Given the description of an element on the screen output the (x, y) to click on. 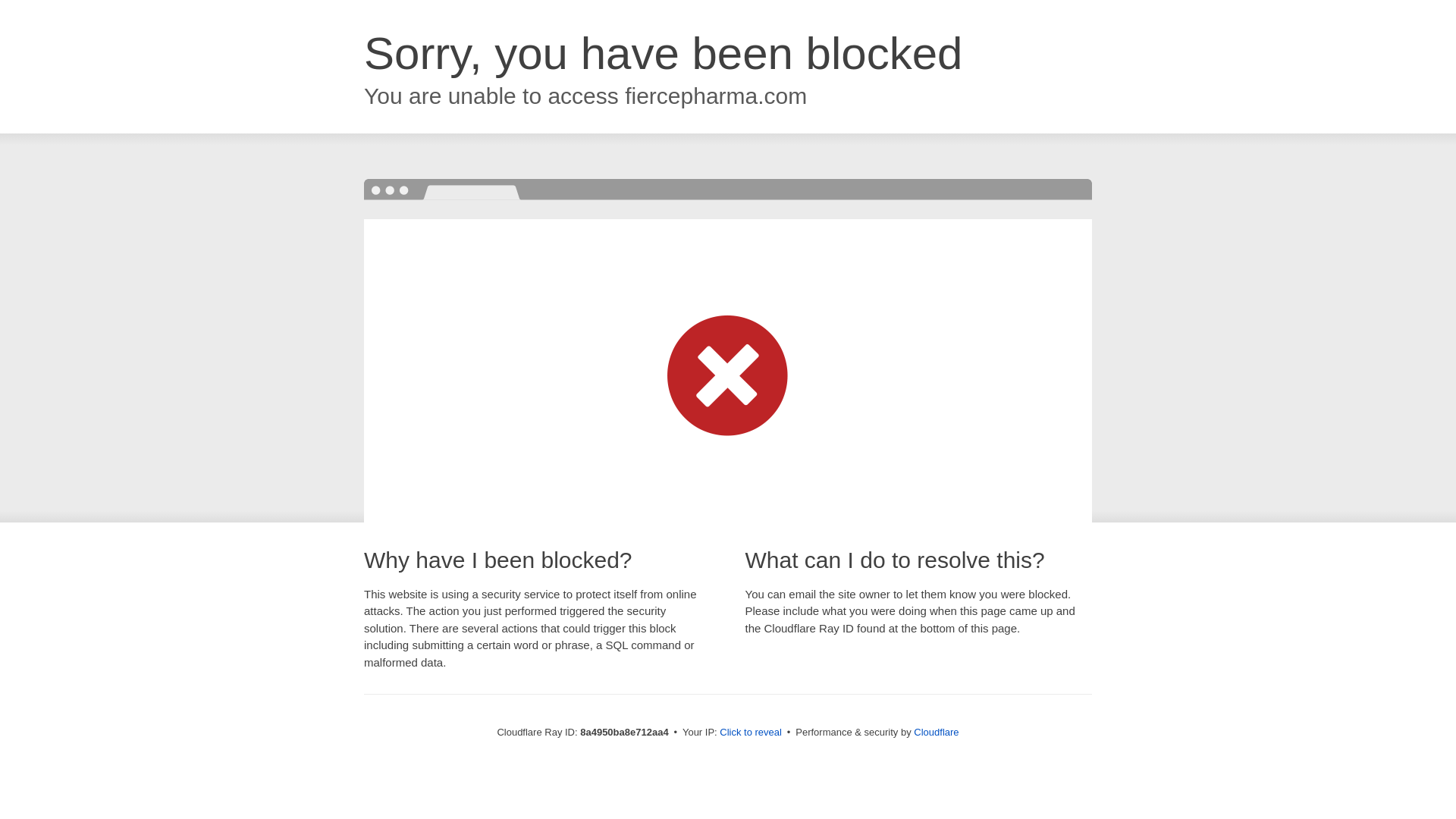
Click to reveal (750, 732)
Cloudflare (936, 731)
